Given the description of an element on the screen output the (x, y) to click on. 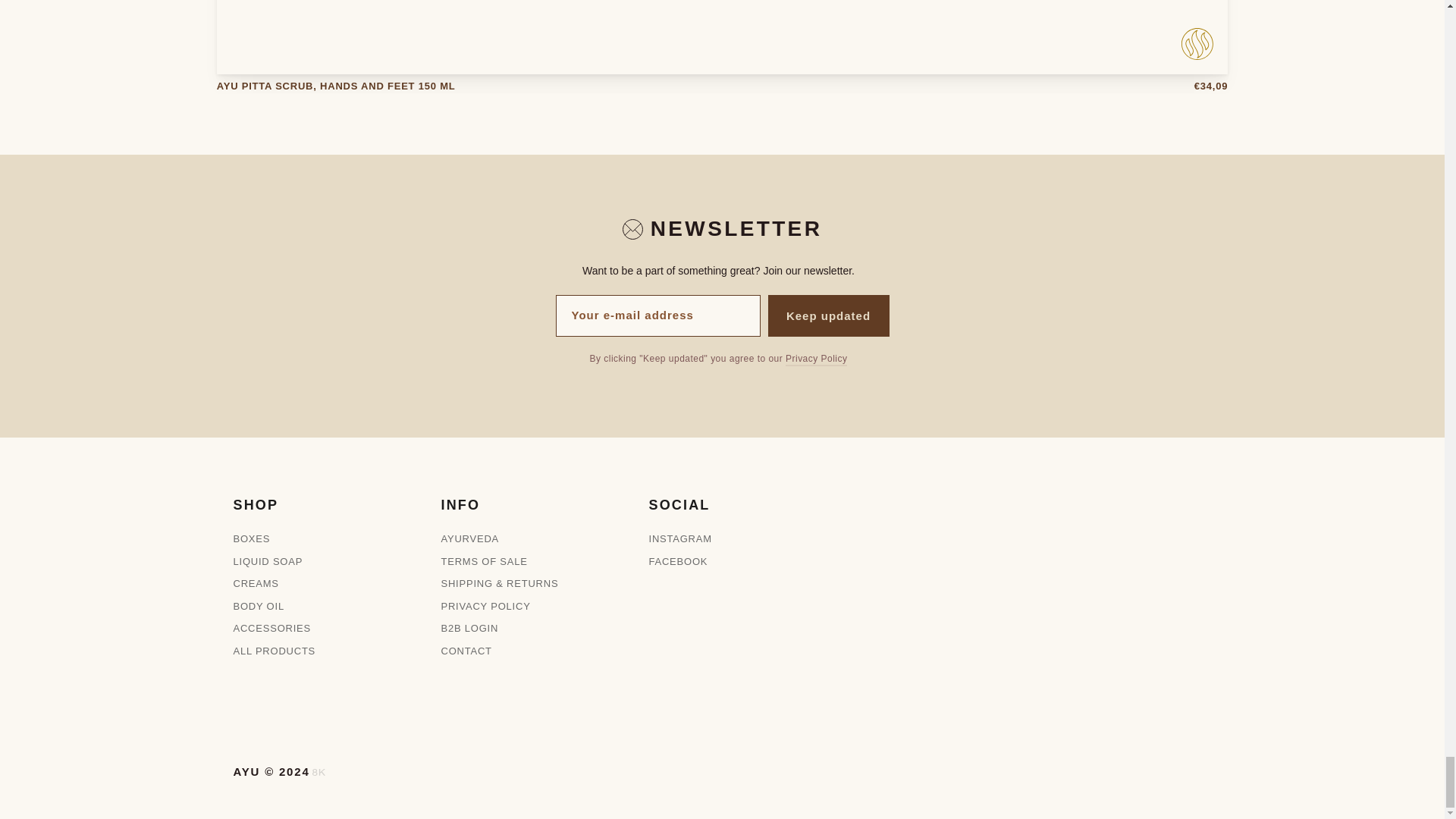
Site by 8kilo (318, 771)
Privacy policy (816, 358)
